Given the description of an element on the screen output the (x, y) to click on. 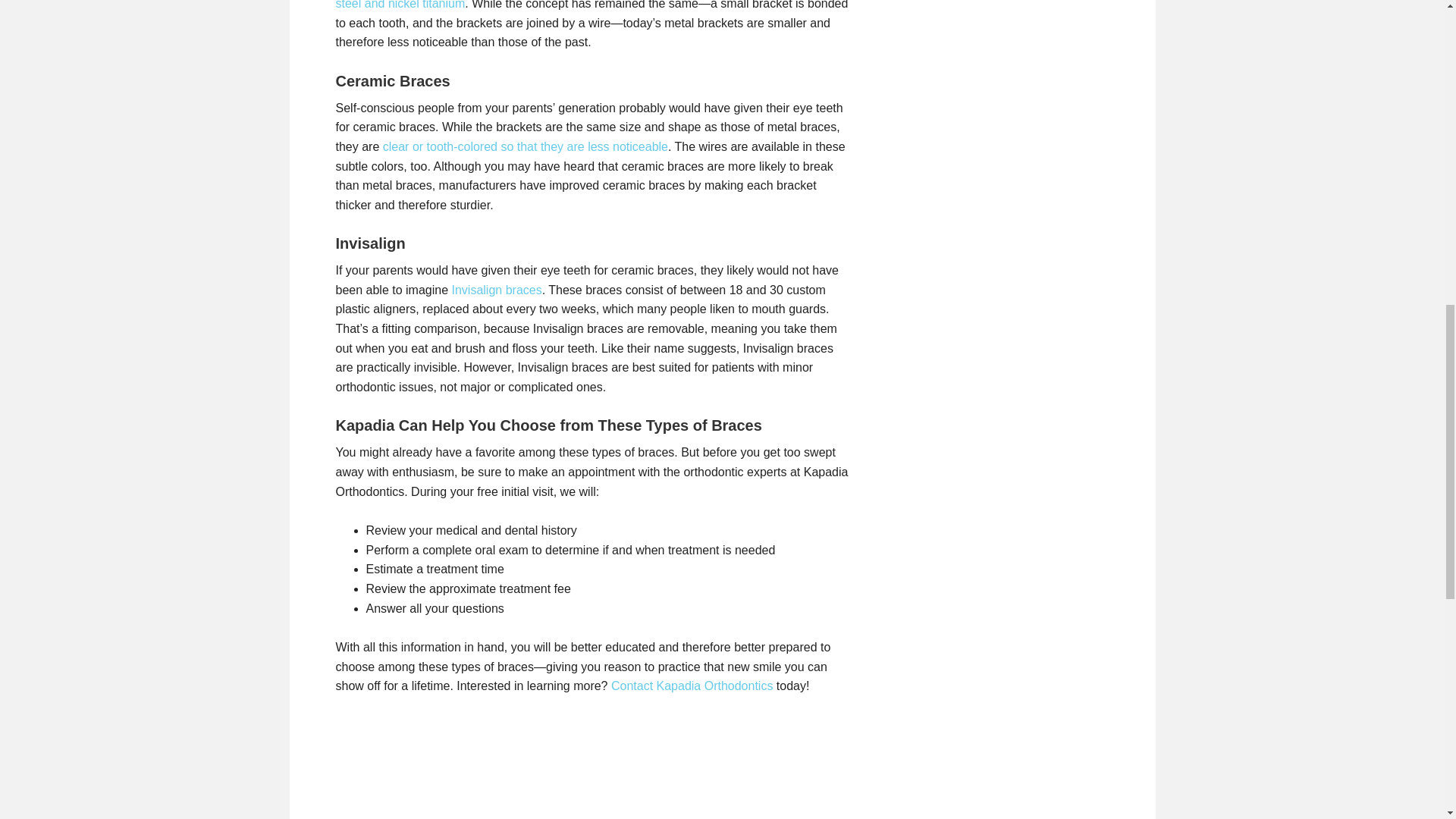
Contact Kapadia Orthodontics (692, 685)
Invisalign braces (496, 289)
clear or tooth-colored so that they are less noticeable (525, 146)
